Given the description of an element on the screen output the (x, y) to click on. 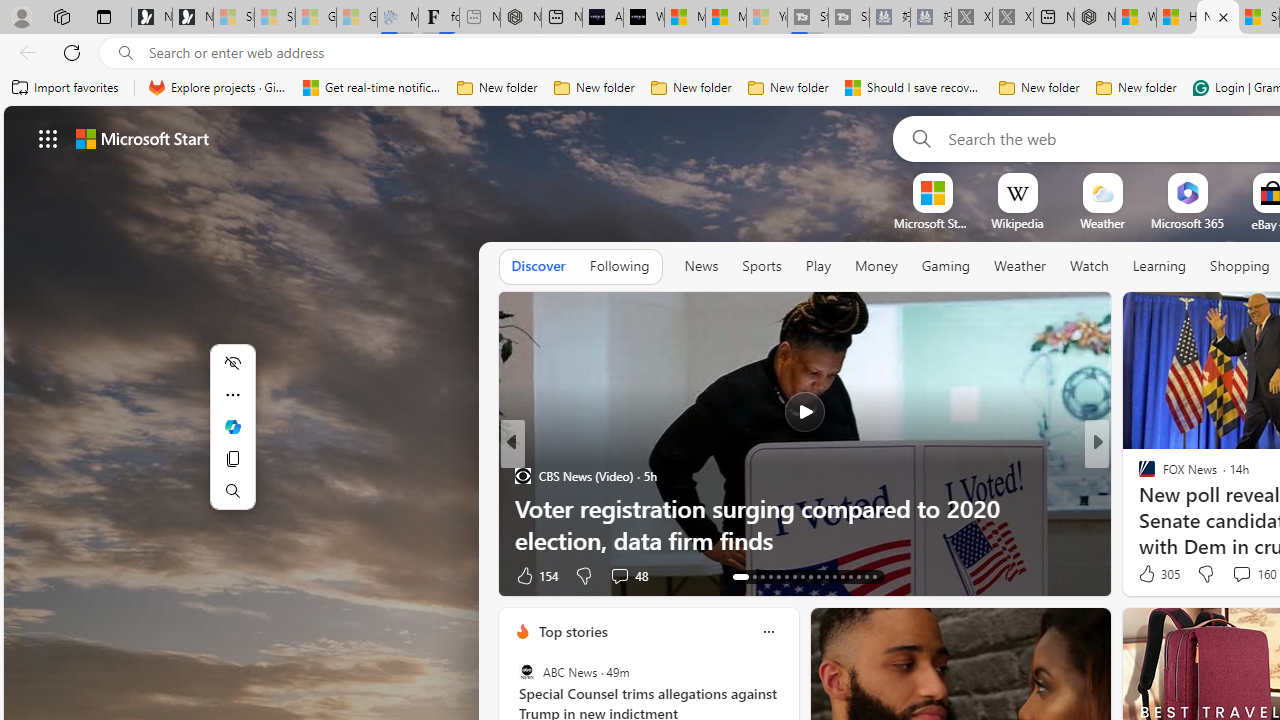
AutomationID: tab-17 (778, 576)
AutomationID: tab-22 (818, 576)
Hide menu (232, 362)
Play (818, 267)
Microsoft 365 (1186, 223)
Newsletter Sign Up (192, 17)
Forge of Empires (1175, 507)
38 Like (1149, 574)
Money (875, 265)
Kathy Kingsley (1138, 475)
Washington Examiner (1138, 475)
Liron Segev (1138, 507)
Copy (232, 458)
Discover (538, 265)
